Given the description of an element on the screen output the (x, y) to click on. 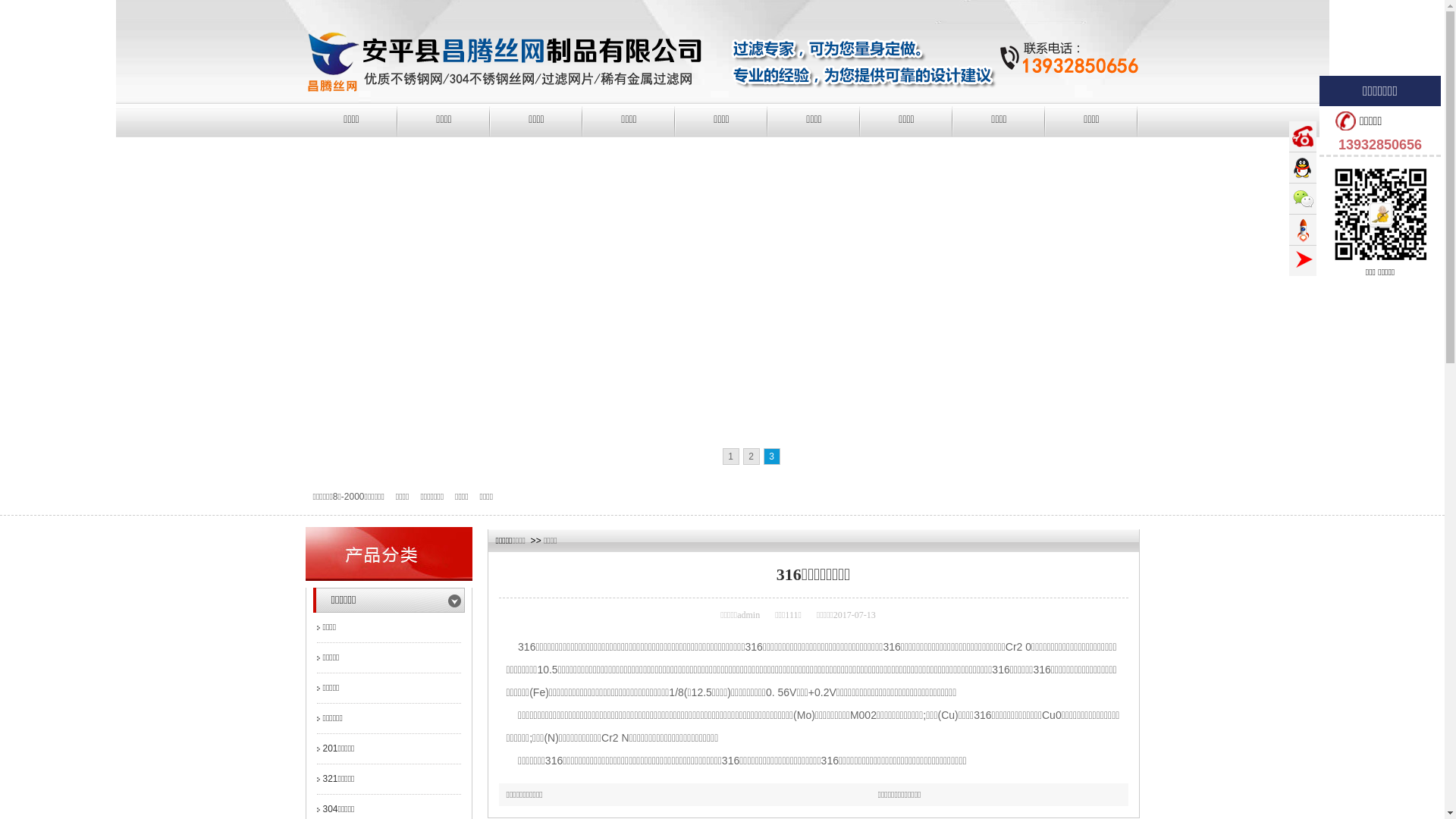
3038276279 Element type: hover (1302, 167)
